Given the description of an element on the screen output the (x, y) to click on. 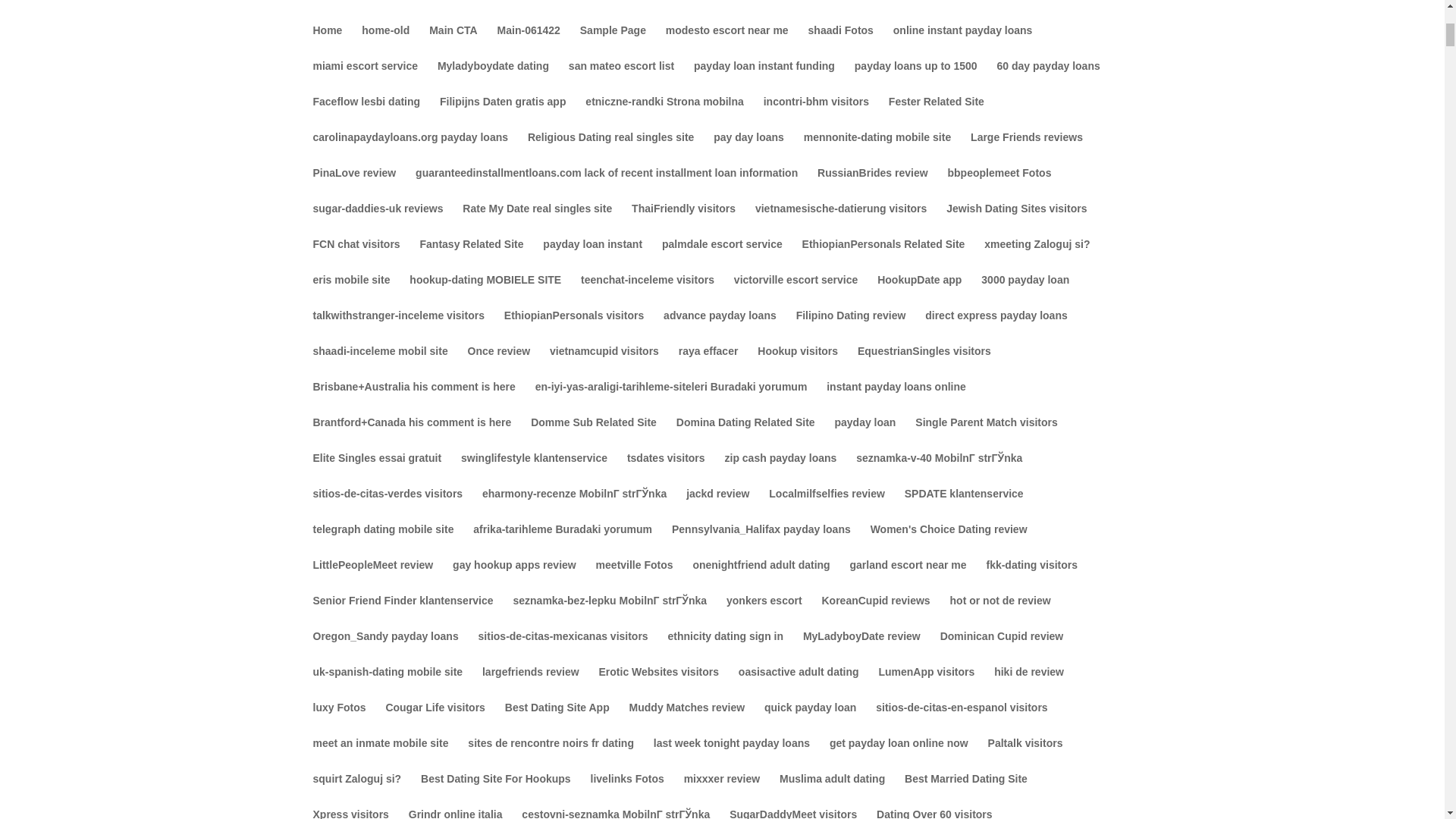
Submit Comment (803, 734)
yes (319, 685)
